Given the description of an element on the screen output the (x, y) to click on. 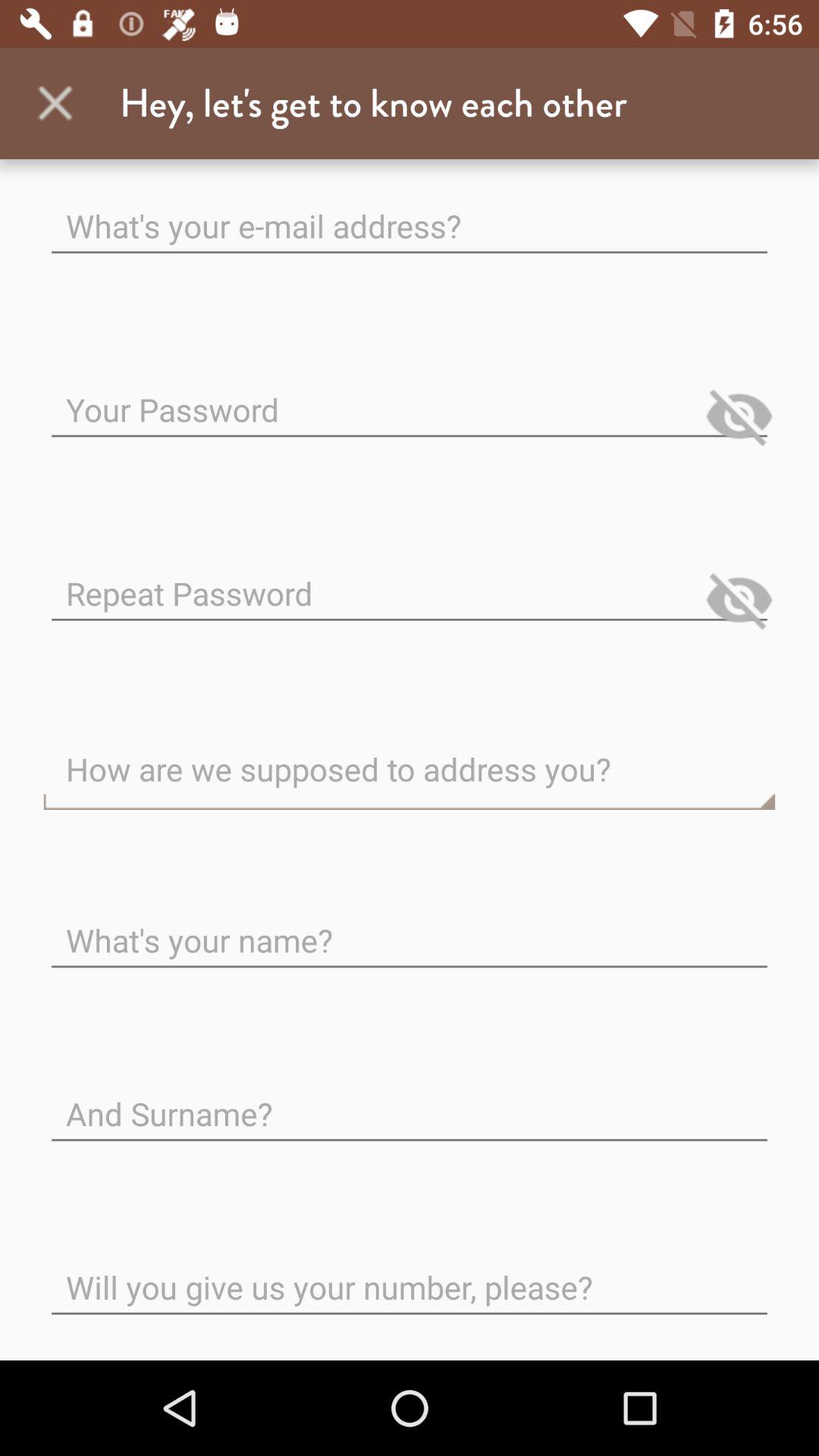
hide password (739, 599)
